Given the description of an element on the screen output the (x, y) to click on. 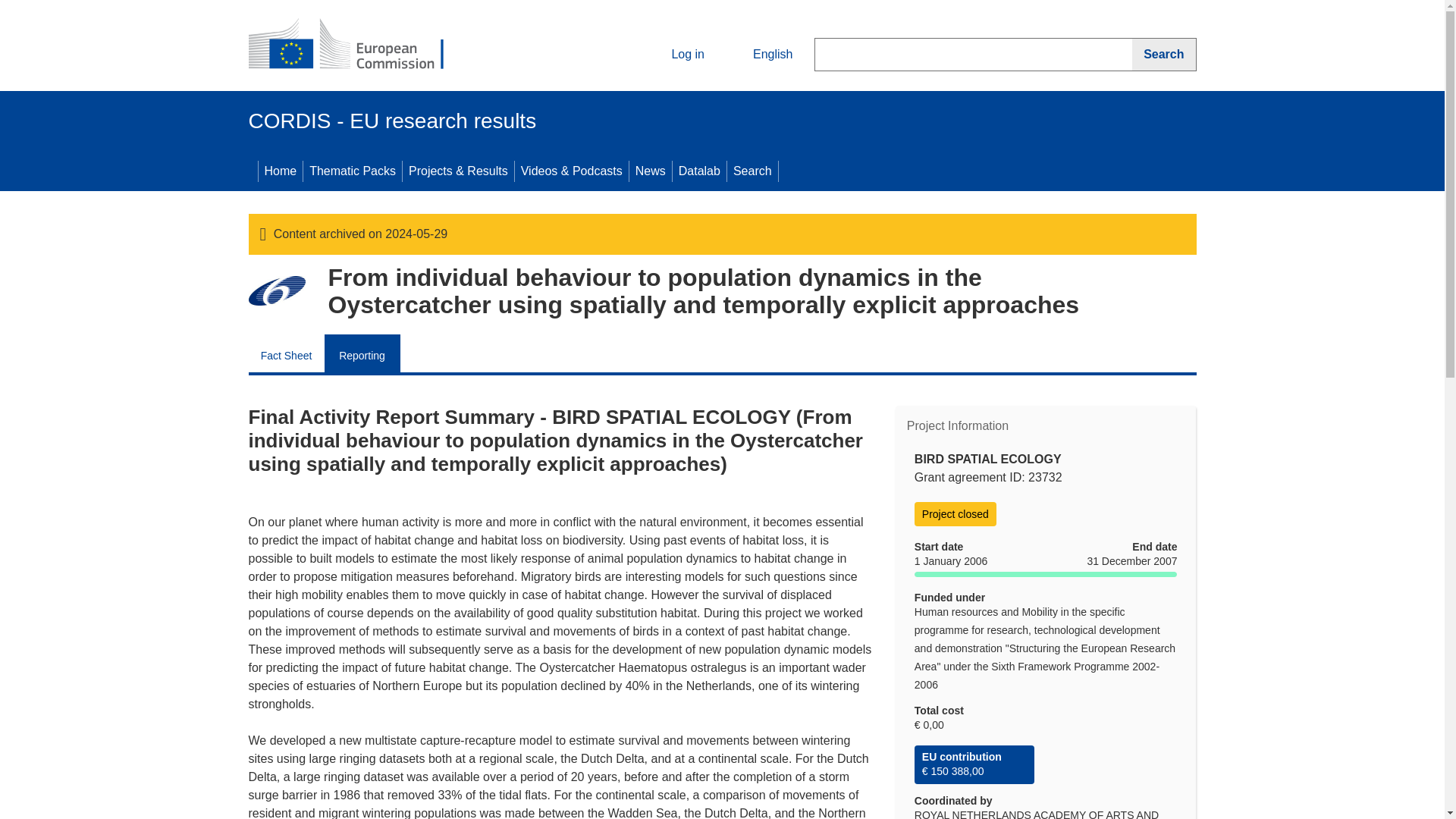
Fact Sheet (286, 353)
European Commission (358, 45)
English (760, 54)
Skip to main content (5, 6)
Search (751, 170)
Thematic Packs (351, 170)
Reporting (362, 353)
Home (279, 170)
Datalab (699, 170)
News (649, 170)
